Given the description of an element on the screen output the (x, y) to click on. 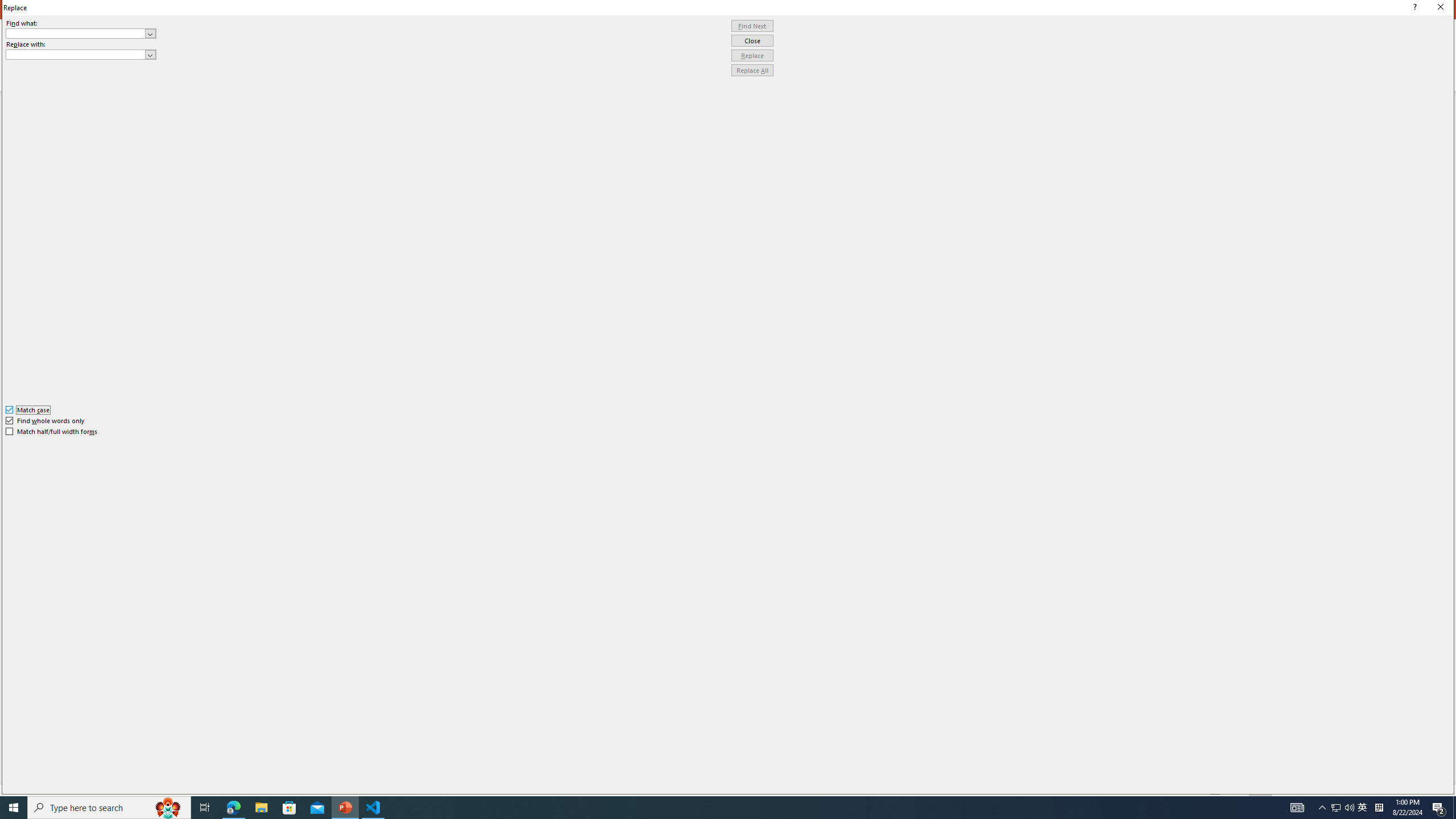
Replace All (752, 69)
Match half/full width forms (52, 431)
Find whole words only (45, 420)
Find what (80, 33)
Replace with (80, 54)
Replace with (75, 53)
Find Next (752, 25)
Match case (27, 409)
Replace (752, 55)
Find what (75, 33)
